Given the description of an element on the screen output the (x, y) to click on. 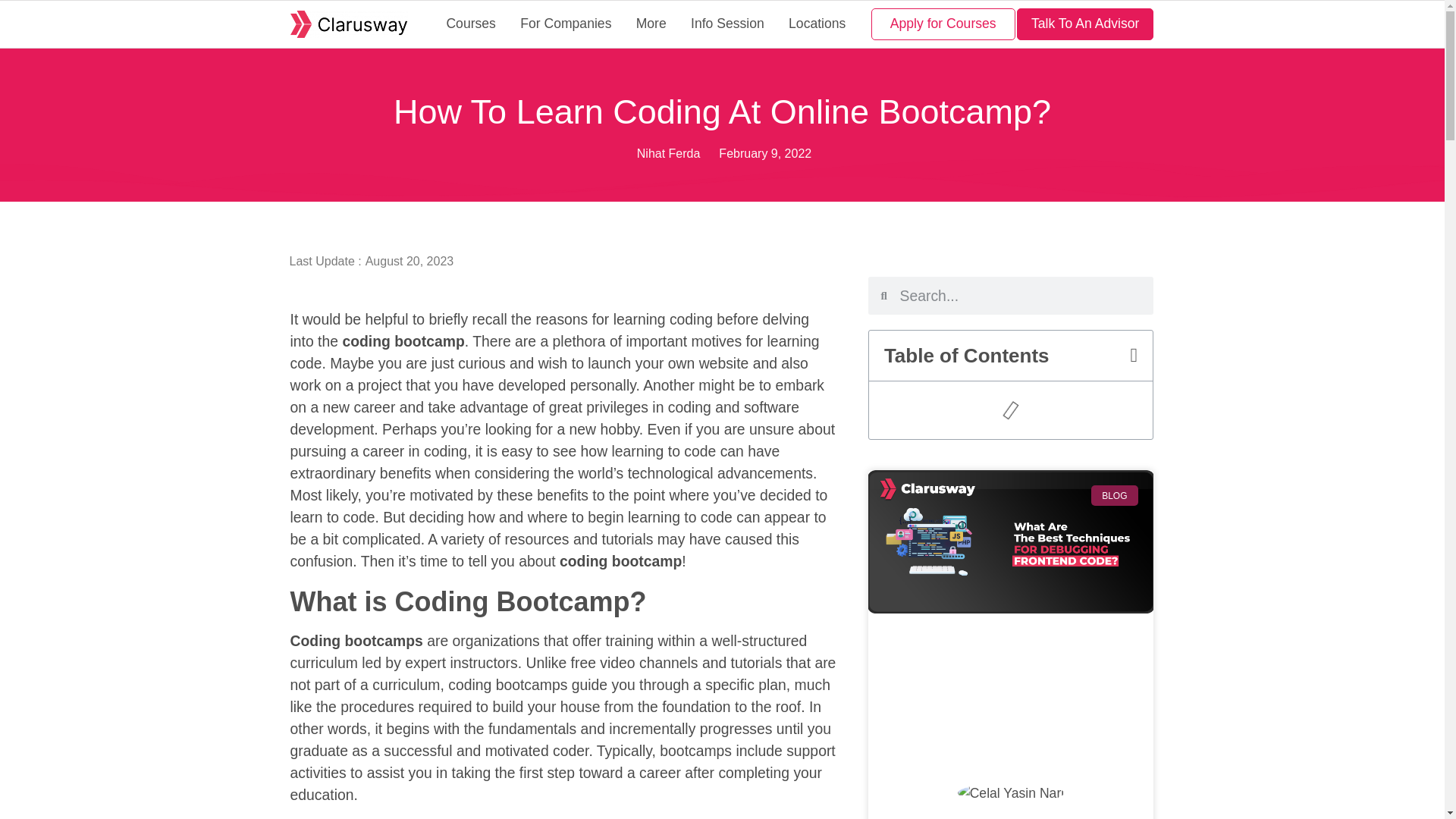
For Companies (566, 23)
Courses (470, 23)
More (651, 23)
